Given the description of an element on the screen output the (x, y) to click on. 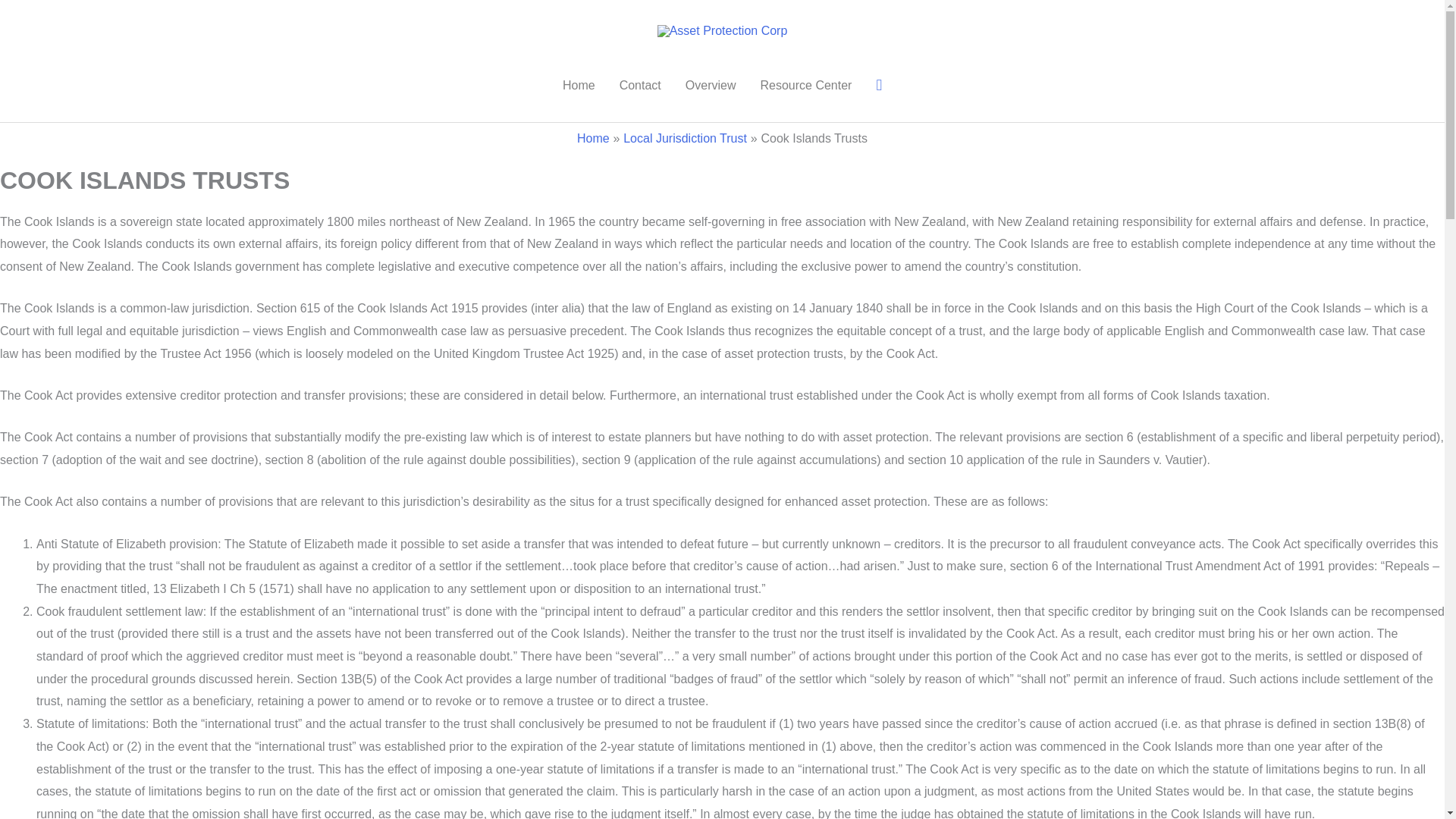
Home (593, 137)
Overview (710, 85)
Contact (639, 85)
Resource Center (805, 85)
Home (578, 85)
Local Jurisdiction Trust (684, 137)
